Given the description of an element on the screen output the (x, y) to click on. 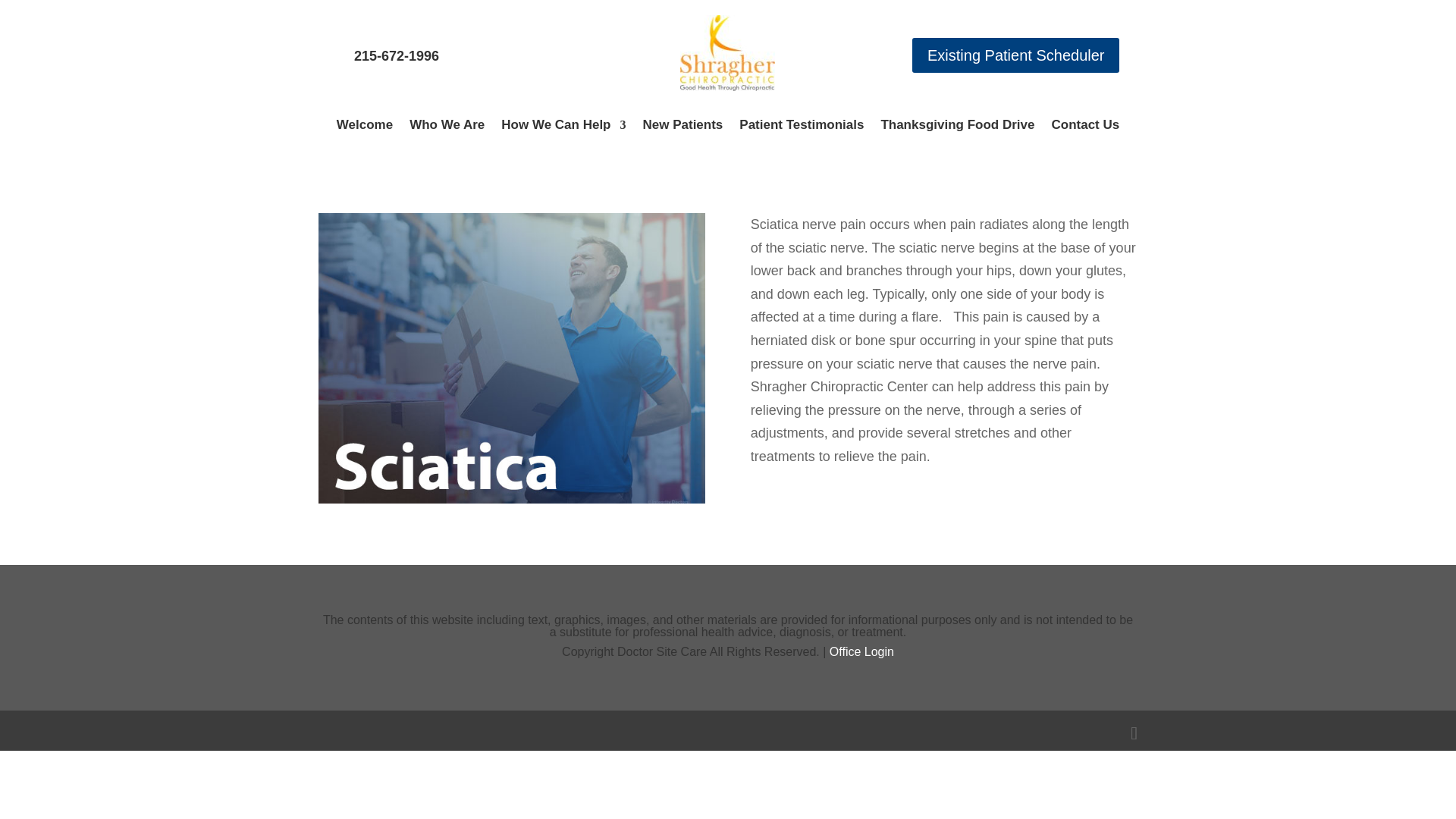
215-672-1996 (396, 55)
logo19 (726, 52)
Patient Testimonials (801, 127)
Contact Us (1085, 127)
Who We Are (446, 127)
Existing Patient Scheduler (1015, 54)
Thanksgiving Food Drive (956, 127)
New Patients (683, 127)
Welcome (364, 127)
Office Login (861, 651)
